Given the description of an element on the screen output the (x, y) to click on. 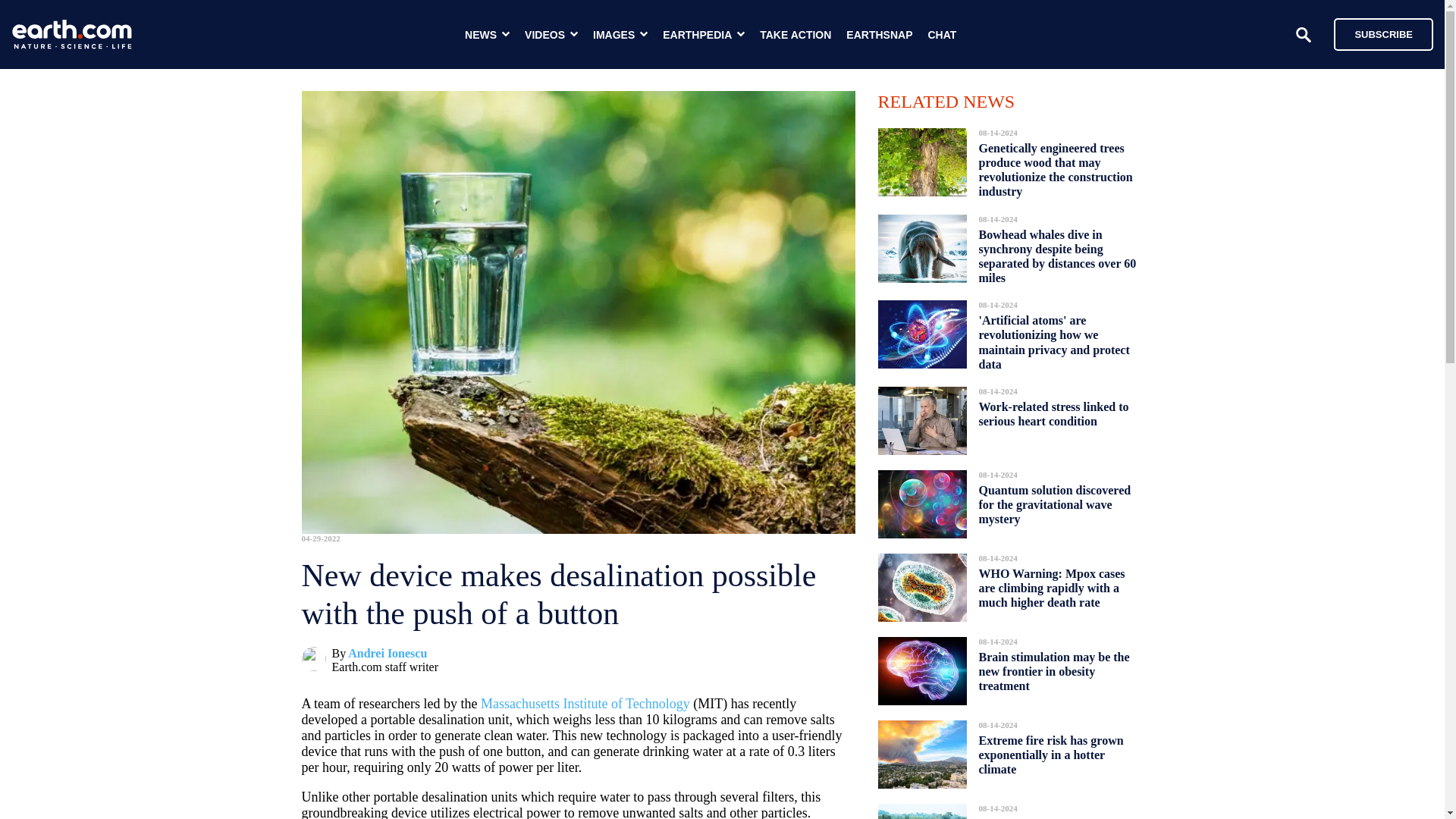
Massachusetts Institute of Technology (585, 703)
CHAT (941, 34)
Work-related stress linked to serious heart condition (1053, 413)
SUBSCRIBE (1375, 33)
Andrei Ionescu (386, 653)
